Given the description of an element on the screen output the (x, y) to click on. 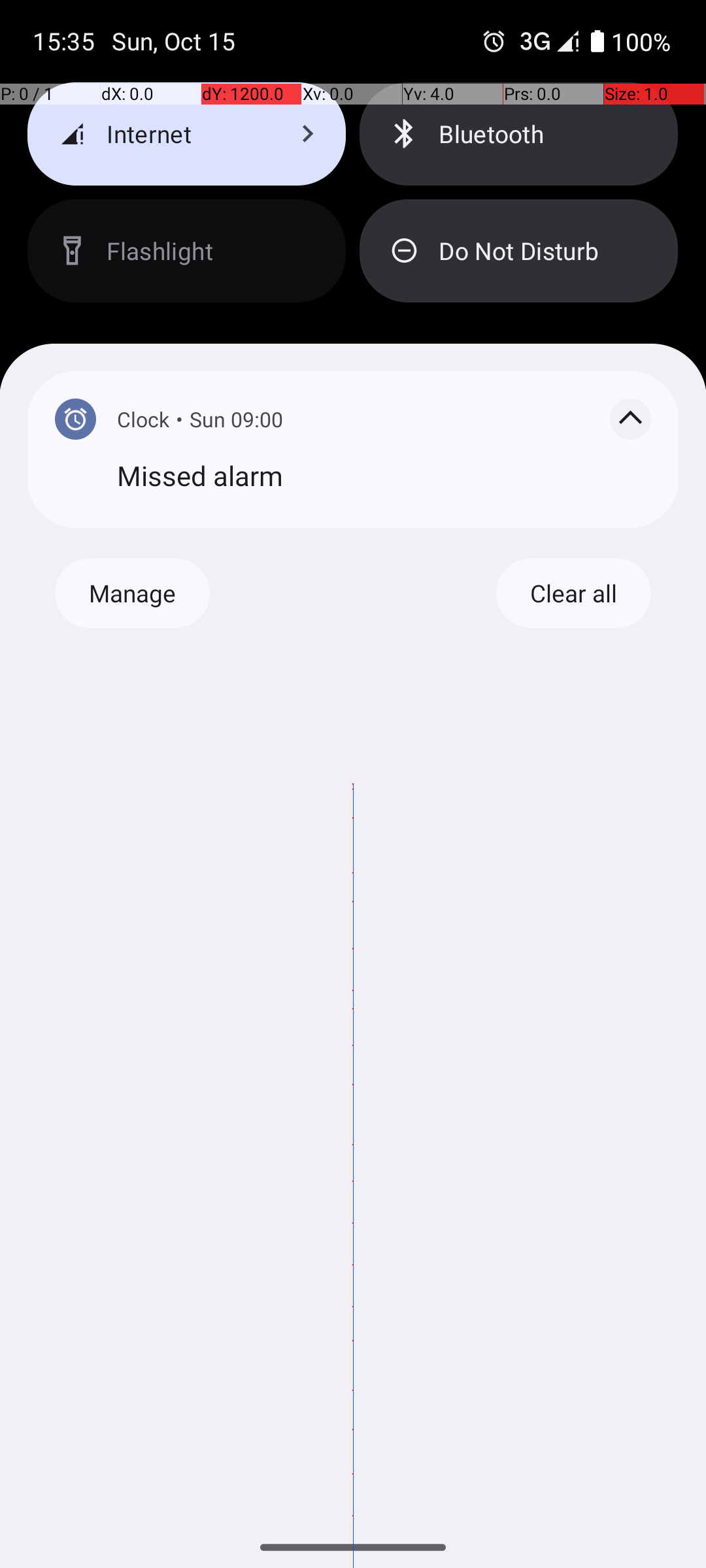
Clear all Element type: android.widget.Button (573, 593)
Alarm set for Sat 09:00. Element type: android.widget.ImageView (493, 41)
Missed alarm Element type: android.widget.TextView (384, 474)
Sun 09:00 Element type: android.widget.TextView (236, 419)
